Given the description of an element on the screen output the (x, y) to click on. 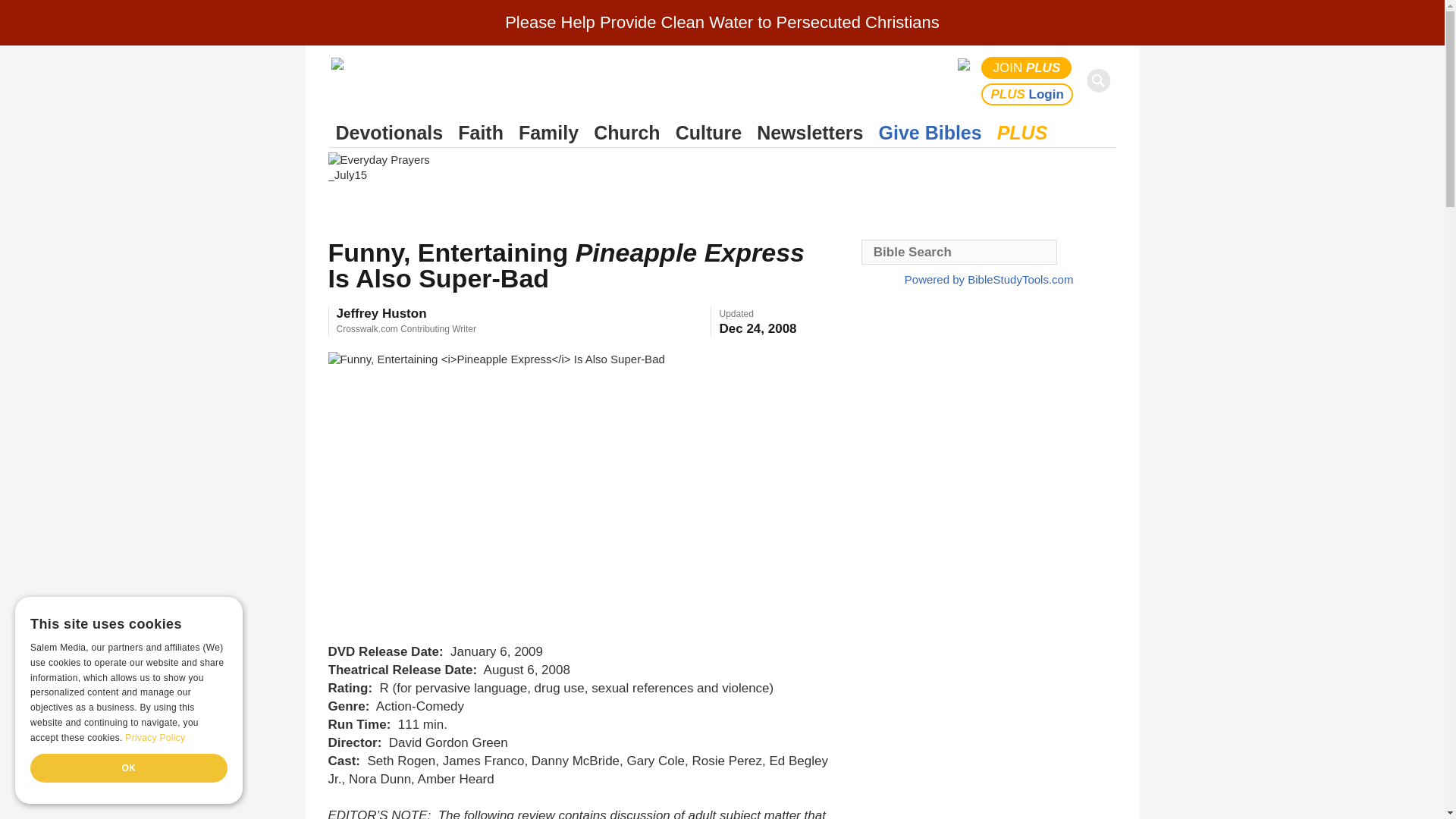
Plus Login (1026, 94)
Search (1101, 80)
PLUS Login (1026, 94)
Join Plus (1026, 67)
Devotionals (389, 132)
JOIN PLUS (1026, 67)
